Given the description of an element on the screen output the (x, y) to click on. 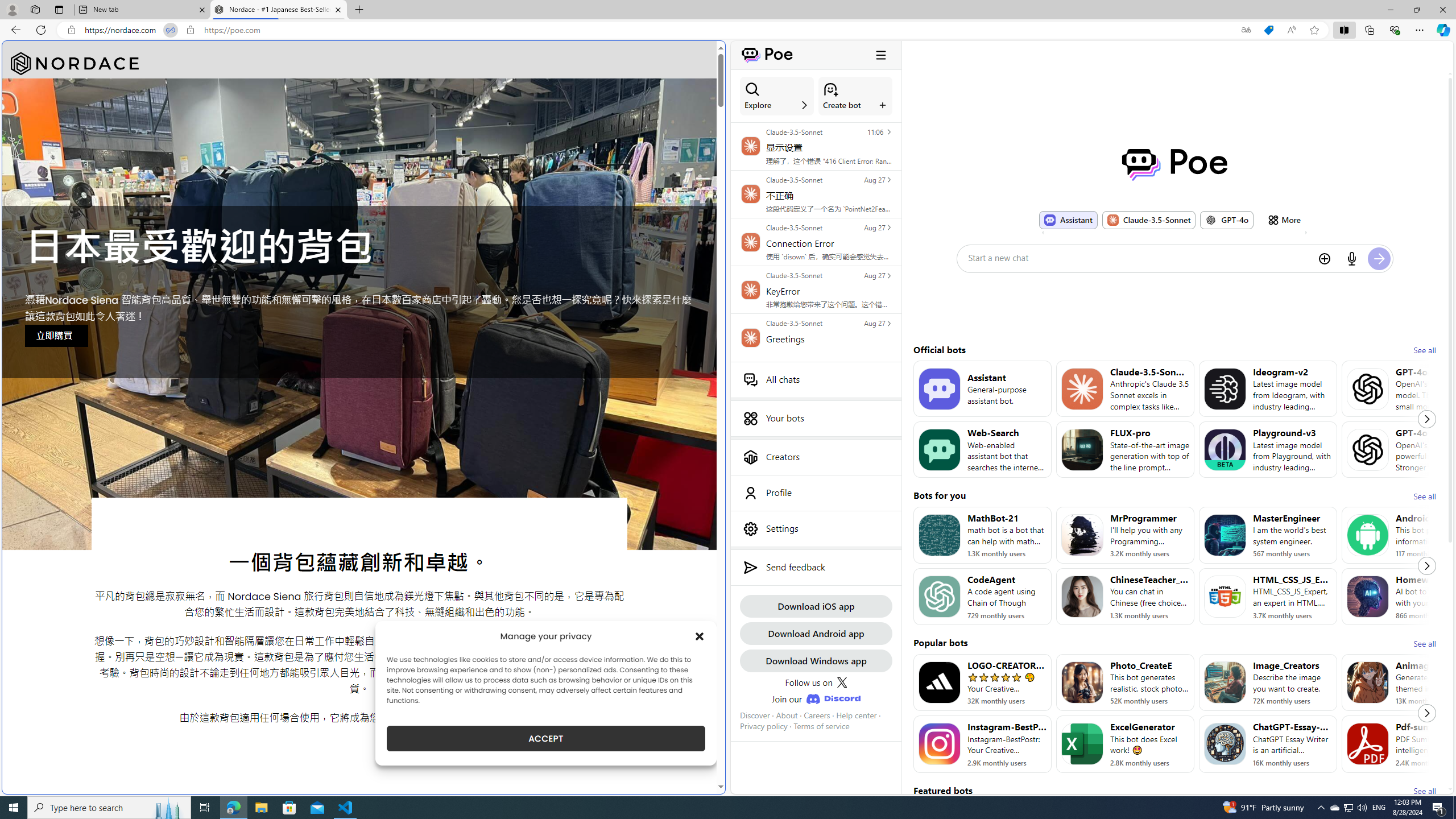
Bot image for MathBot-21 (938, 534)
ACCEPT (545, 738)
Bot image for HTML_CSS_JS_Expert (1224, 596)
Careers (816, 714)
Bot image for MrProgrammer (1081, 534)
More (1283, 219)
Bot image for Photo_CreateE (1081, 682)
See all (1424, 790)
